Given the description of an element on the screen output the (x, y) to click on. 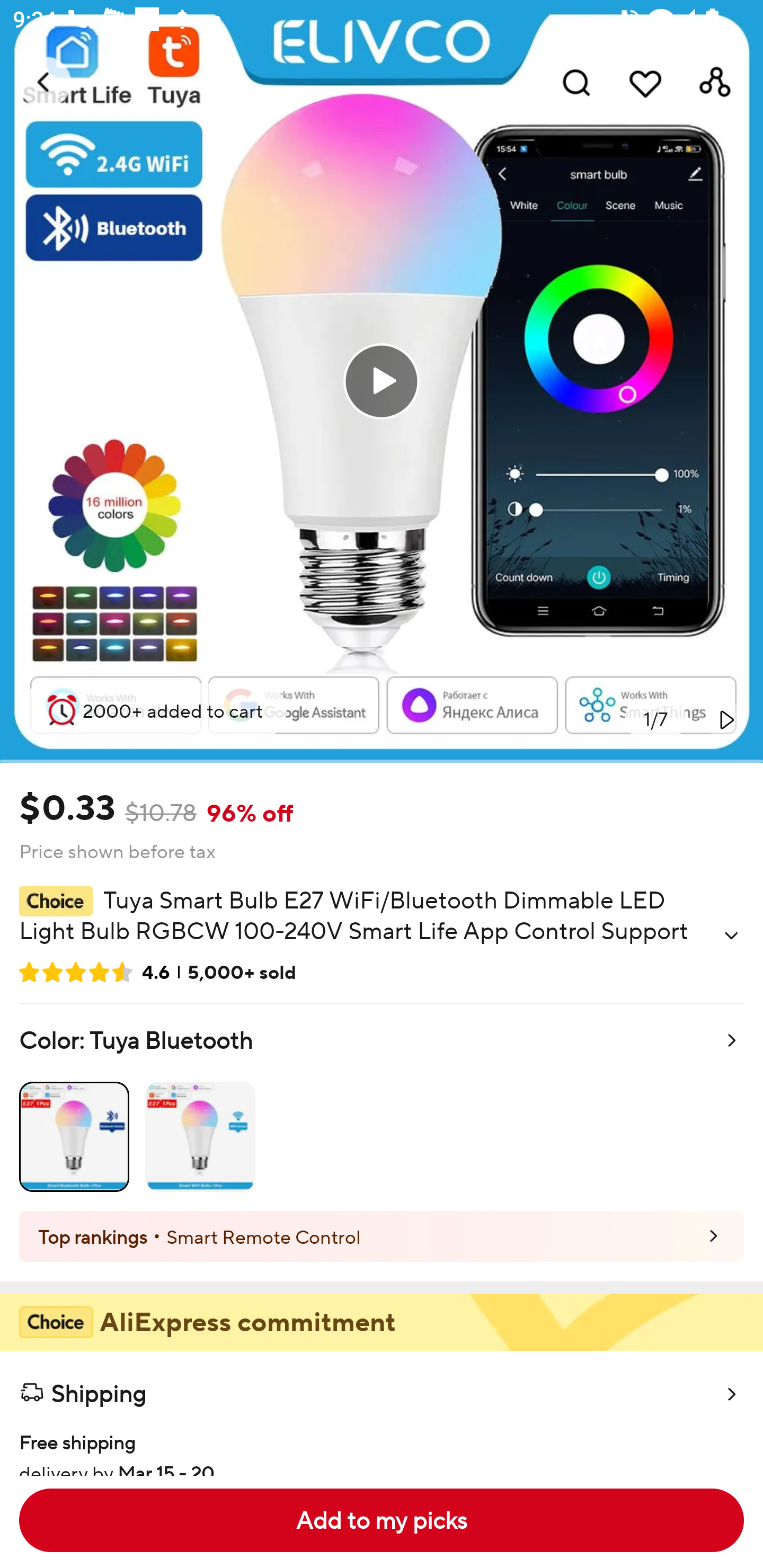
0.0 (381, 381)
Navigate up (44, 82)
 (724, 719)
 (730, 935)
Color: Tuya Bluetooth  (381, 1106)
Shipping  Free shipping  delivery by Mar 15 - 20  (381, 1412)
Free shipping  delivery by Mar 15 - 20  (381, 1444)
Add to my picks (381, 1520)
